Given the description of an element on the screen output the (x, y) to click on. 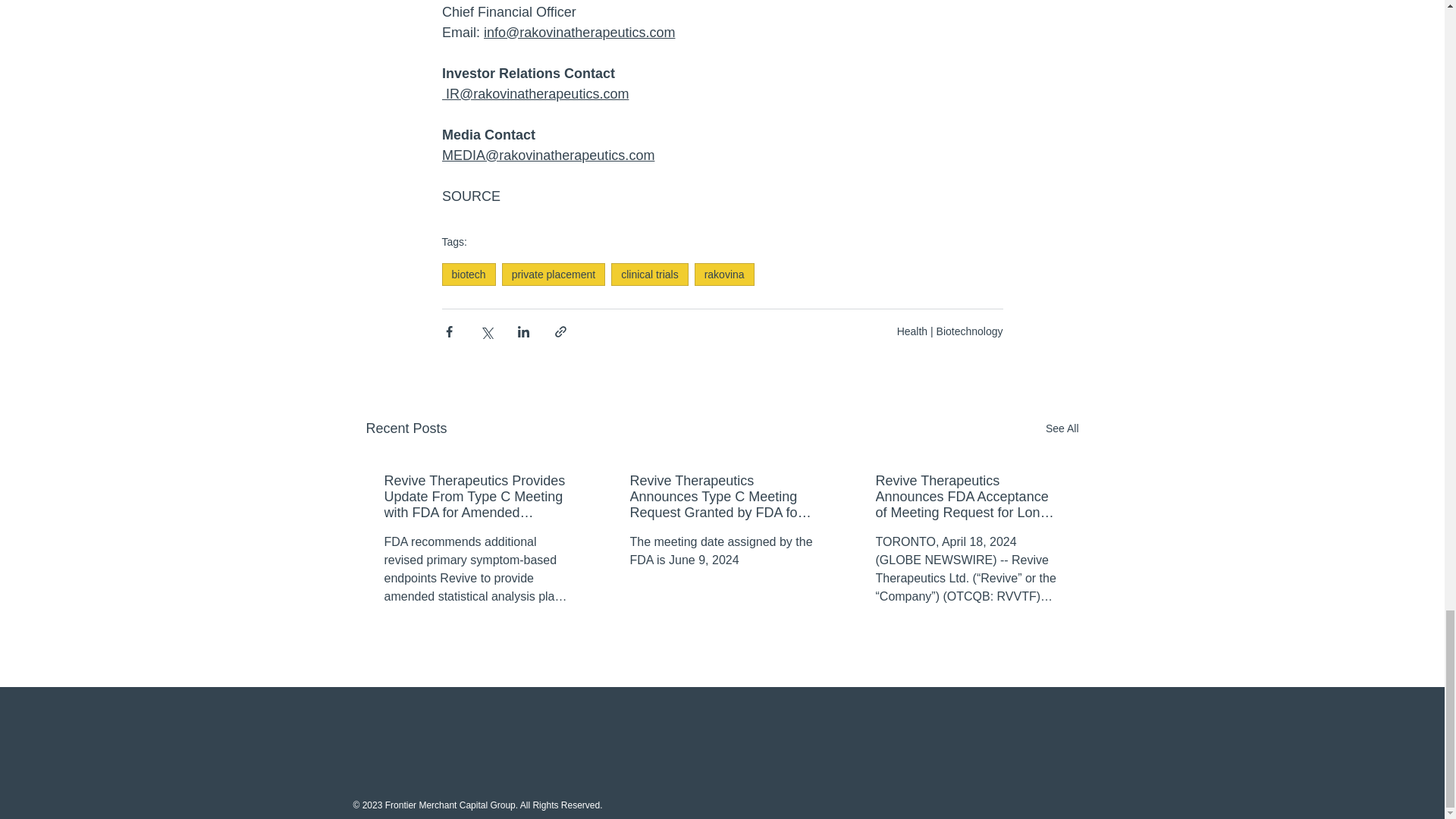
clinical trials (649, 273)
rakovina (724, 273)
SOURCE (470, 196)
private placement (553, 273)
biotech (468, 273)
See All (1061, 428)
